Given the description of an element on the screen output the (x, y) to click on. 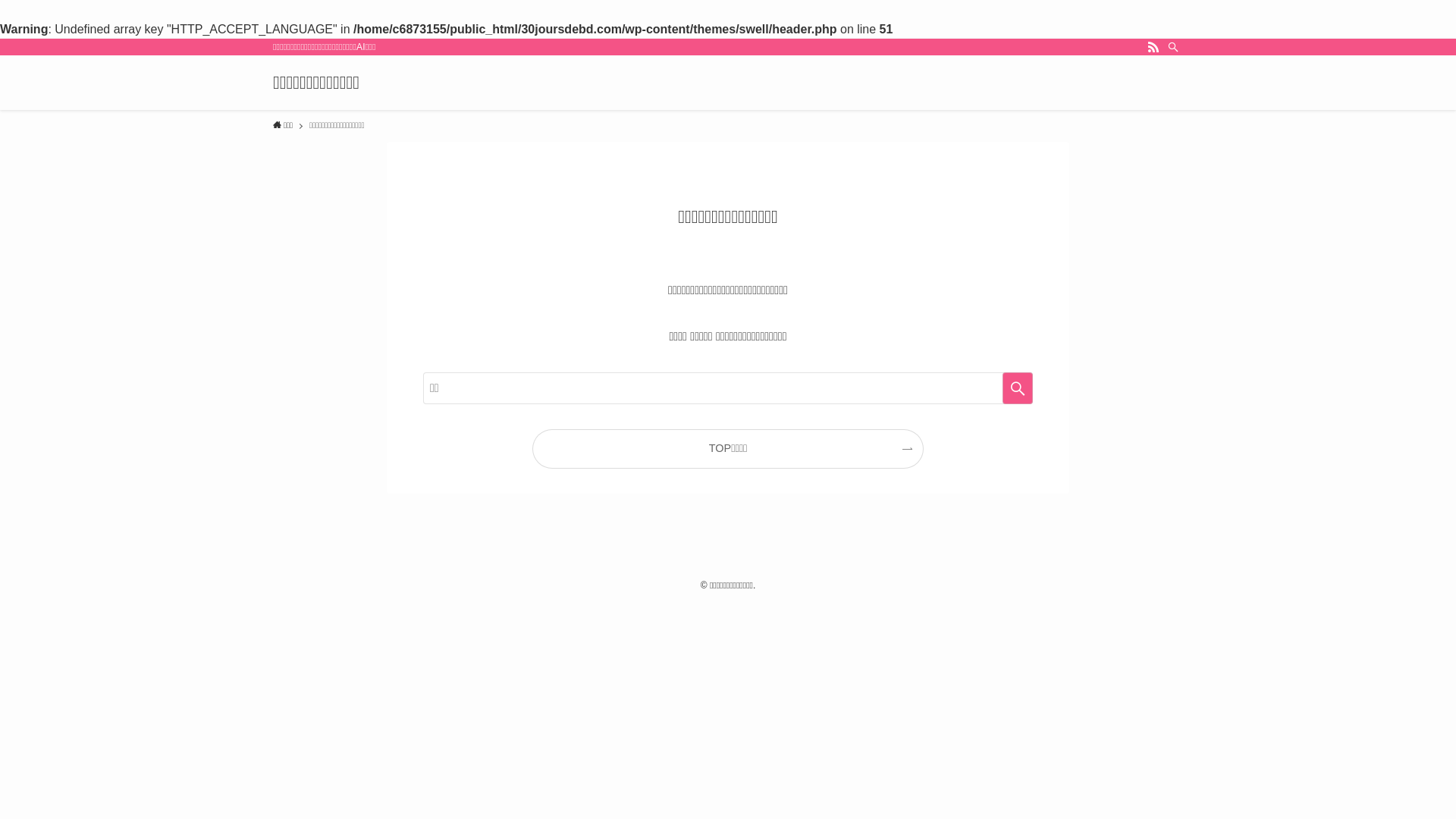
search Element type: text (928, 421)
search Element type: text (1017, 388)
